Given the description of an element on the screen output the (x, y) to click on. 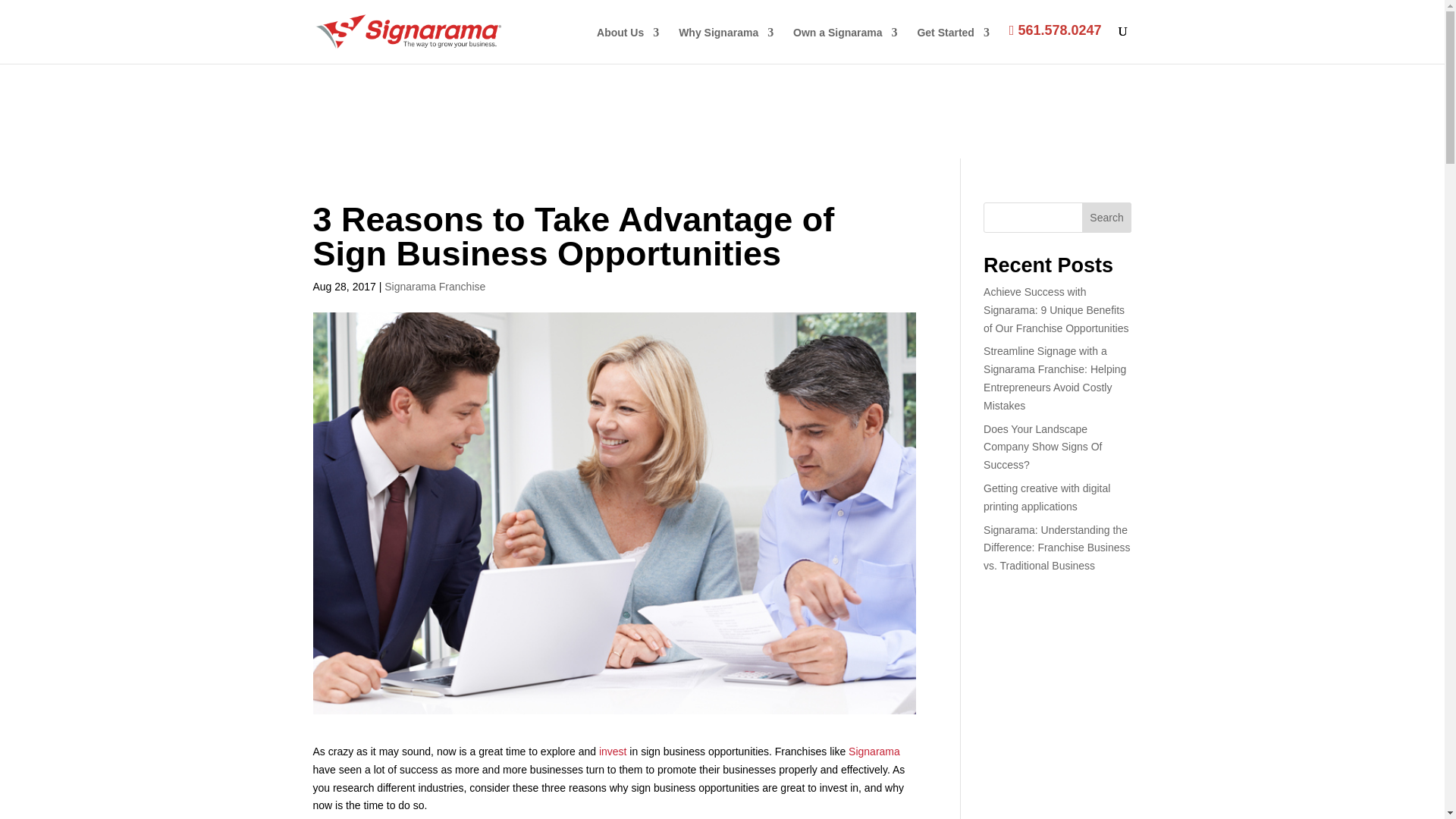
Get Started (952, 45)
Own a Signarama (844, 45)
Why Signarama (725, 45)
561.578.0247 (1055, 42)
About Us (627, 45)
Search (1106, 217)
